Given the description of an element on the screen output the (x, y) to click on. 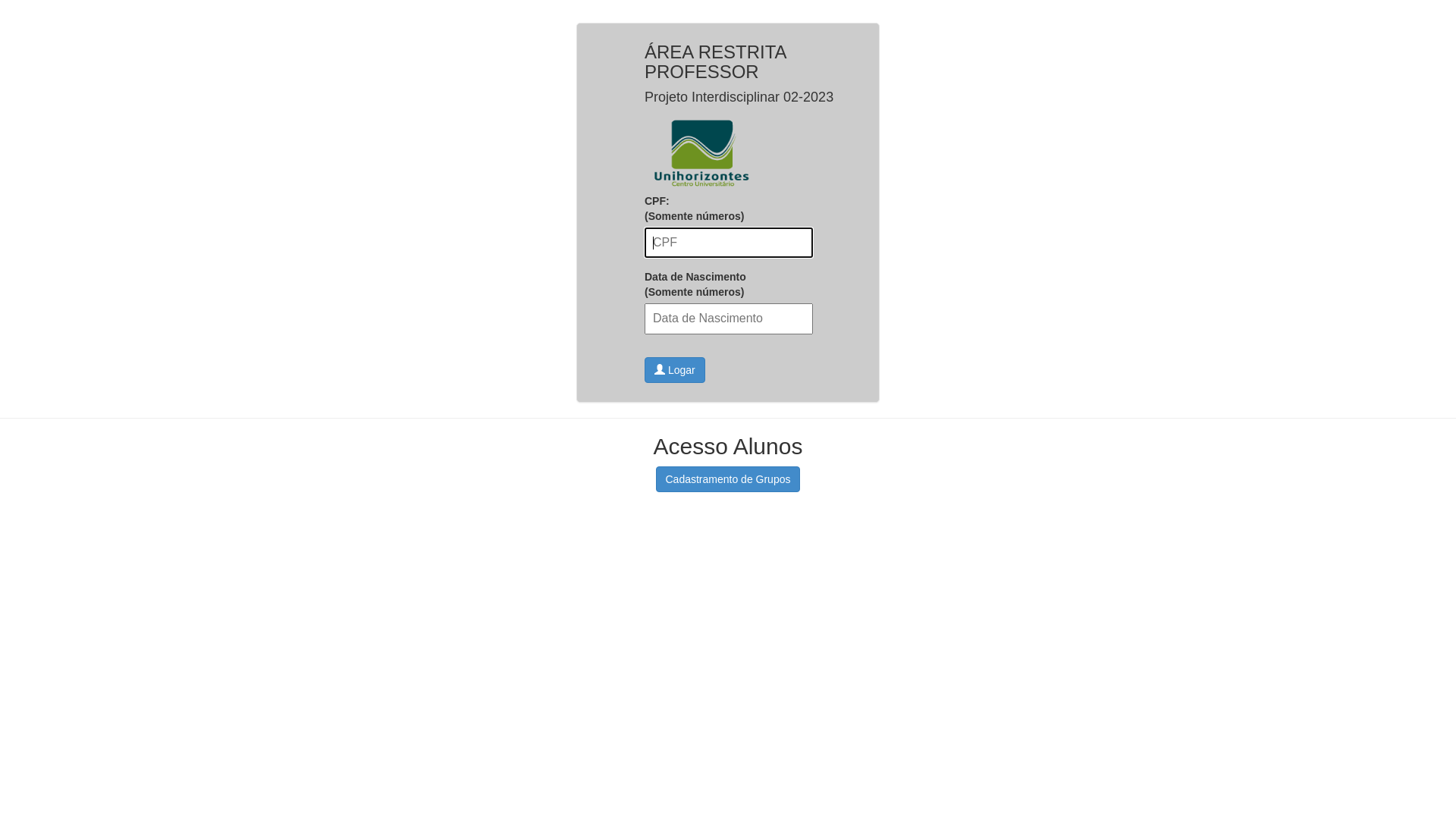
Logar Element type: text (674, 369)
Cadastramento de Grupos Element type: text (727, 479)
